Given the description of an element on the screen output the (x, y) to click on. 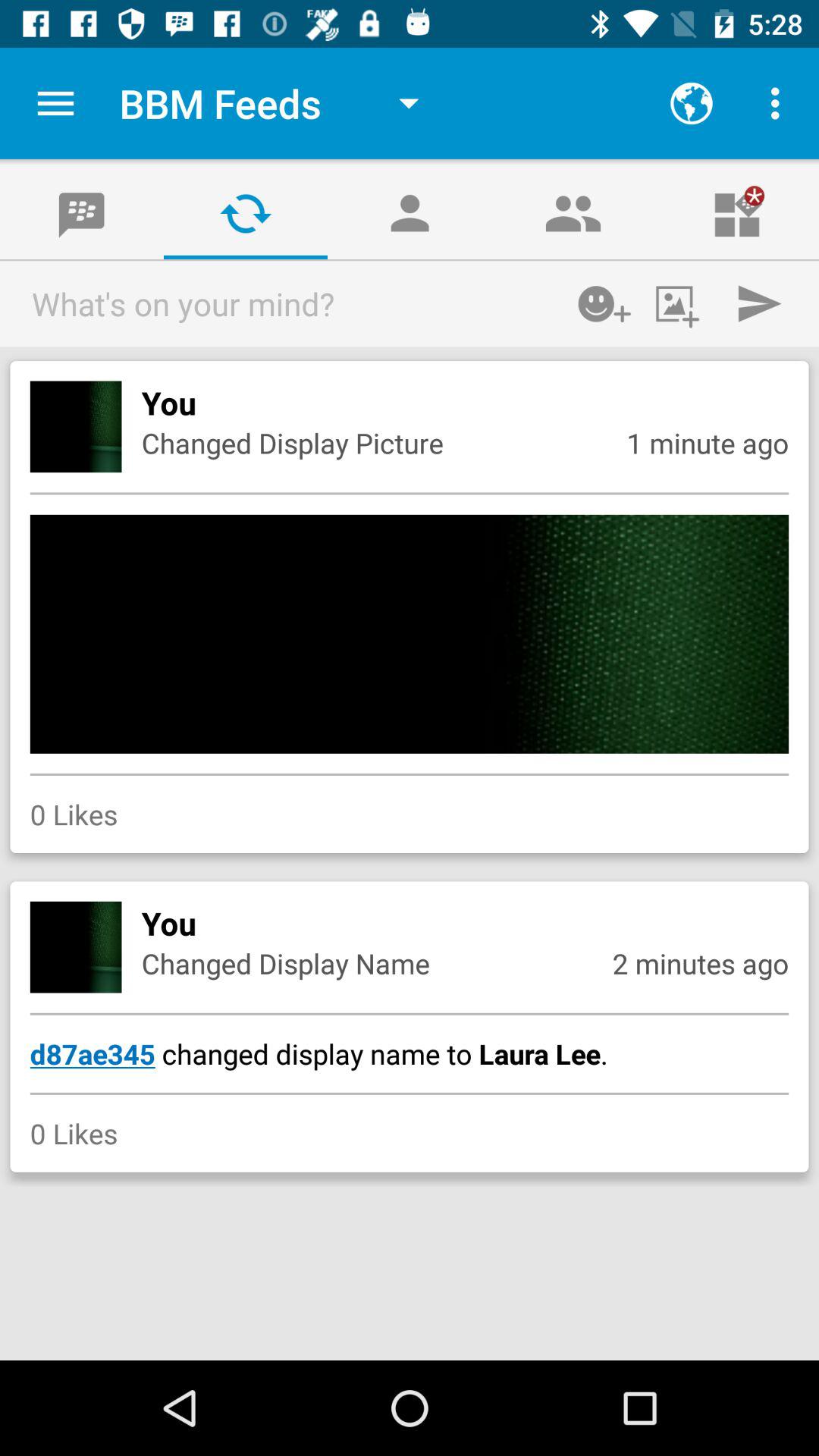
click on the image shown below 0 likes (76, 946)
select the fourth icon from the left below bbm feeds (573, 212)
click on the second icon next to whats on your mind (682, 303)
